Given the description of an element on the screen output the (x, y) to click on. 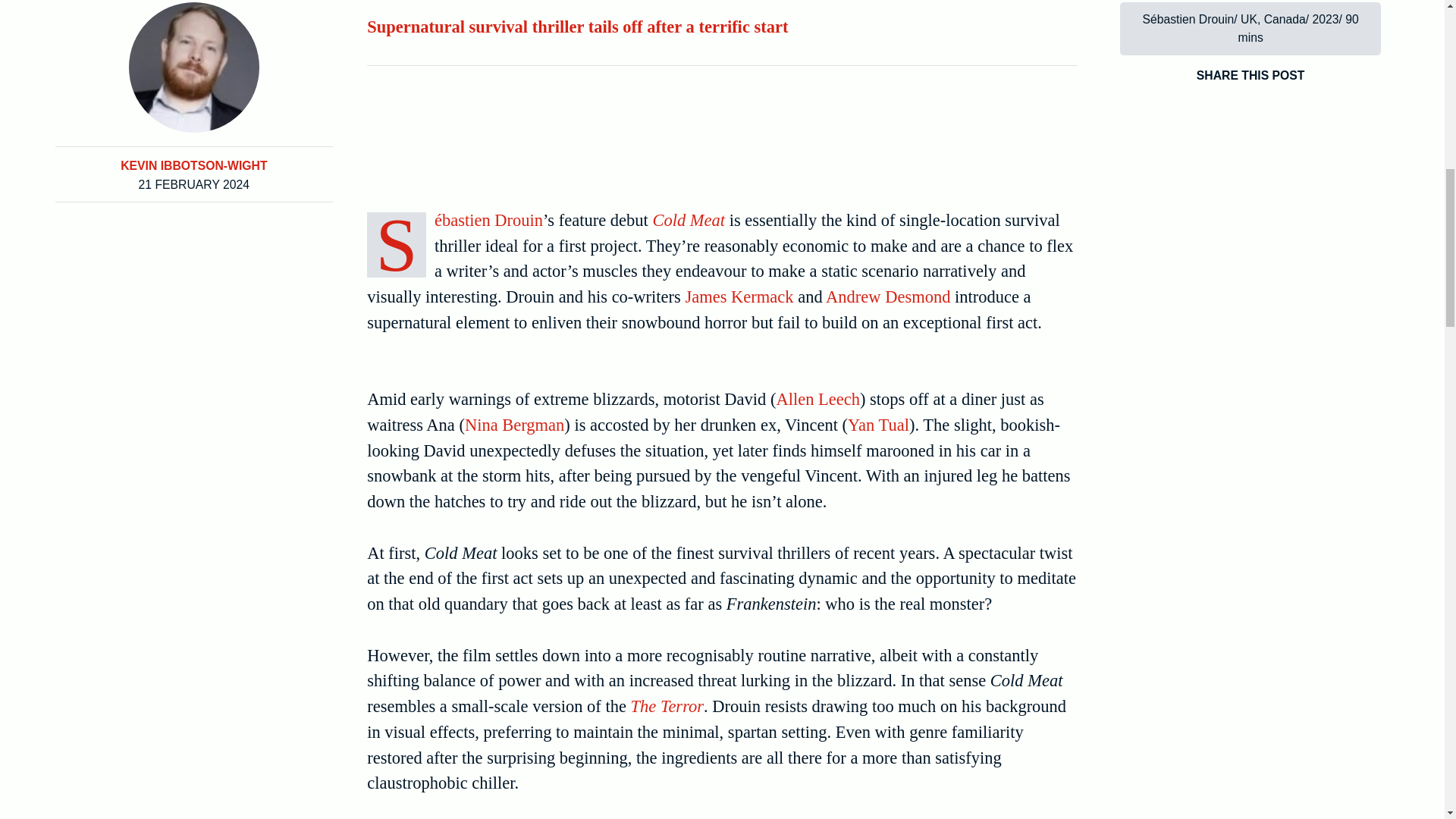
Cold Meat (688, 220)
Andrew Desmond (887, 296)
James Kermack (738, 296)
